Given the description of an element on the screen output the (x, y) to click on. 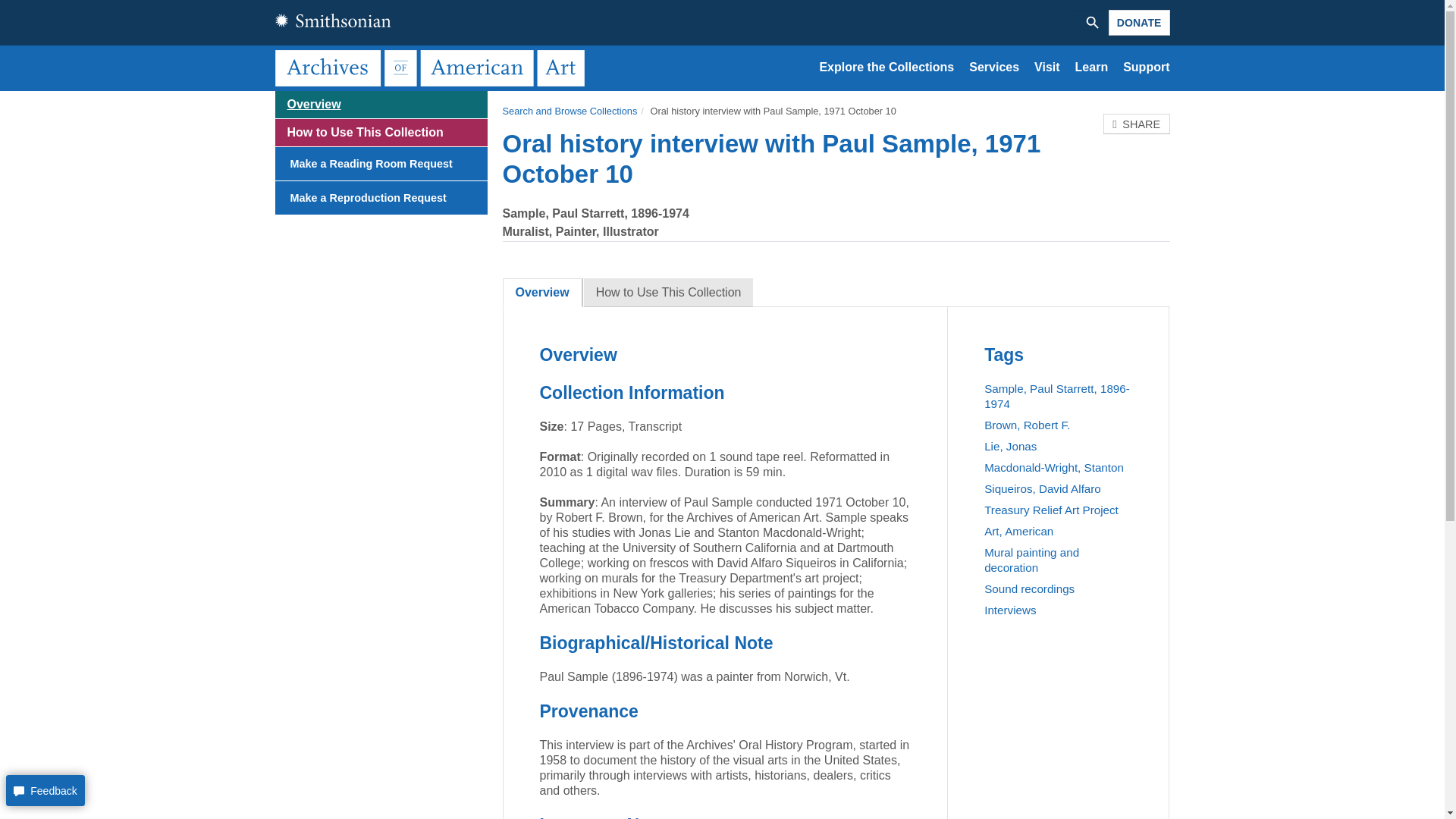
Home (432, 67)
DONATE (1139, 22)
Skip to main content (721, 91)
Archives of American Art, Smithsonian Institution (432, 67)
Services (994, 67)
Records and Resources (885, 67)
Explore the Collections (885, 67)
